Given the description of an element on the screen output the (x, y) to click on. 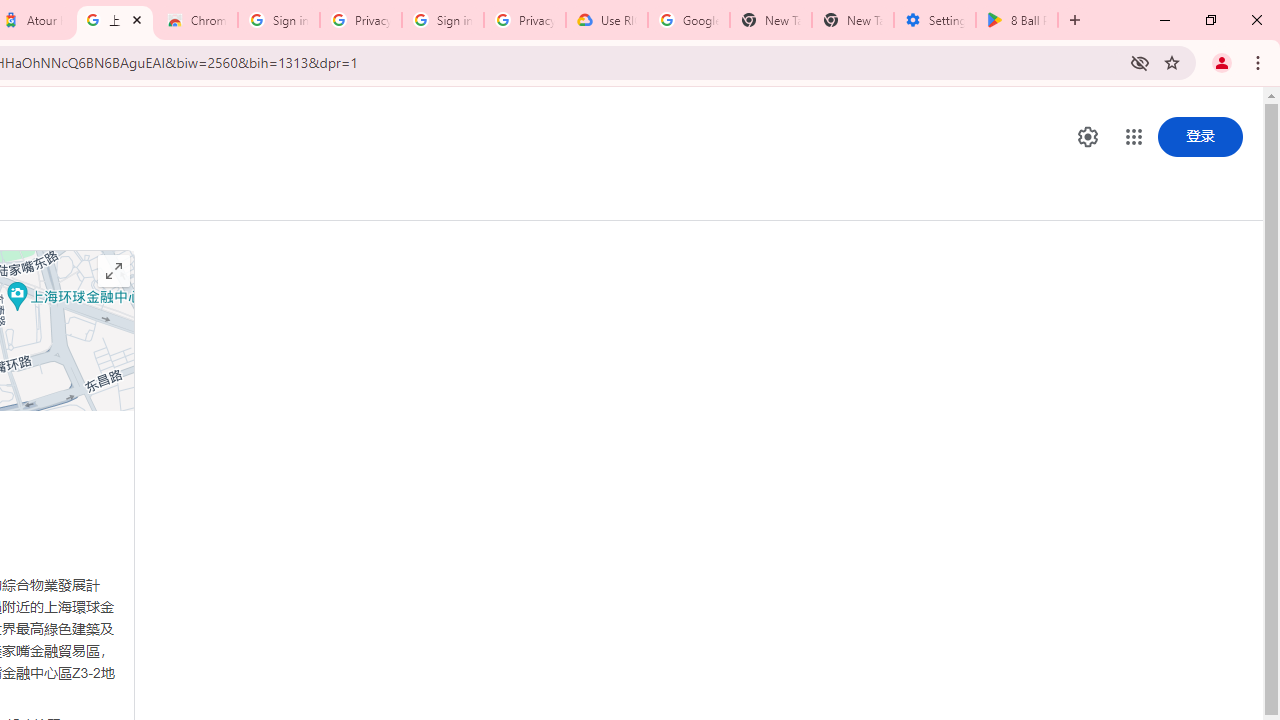
Settings - System (934, 20)
8 Ball Pool - Apps on Google Play (1016, 20)
